Given the description of an element on the screen output the (x, y) to click on. 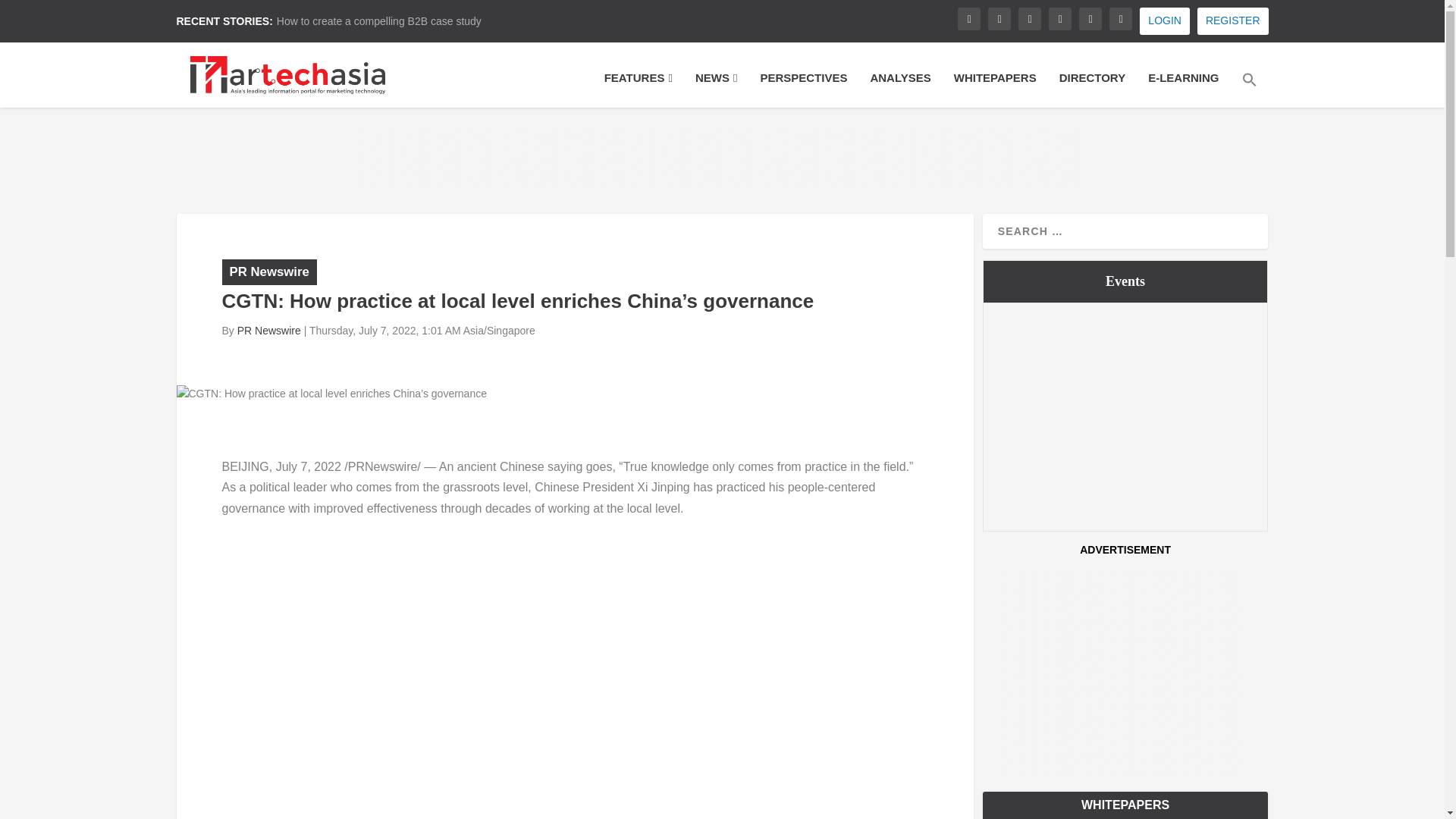
DIRECTORY (1092, 87)
LOGIN (1164, 21)
How to create a compelling B2B case study (378, 21)
NEWS (715, 87)
PERSPECTIVES (803, 87)
Posts by PR Newswire (269, 330)
REGISTER (1232, 21)
ANALYSES (899, 87)
3rd party ad content (722, 157)
FEATURES (638, 87)
